Given the description of an element on the screen output the (x, y) to click on. 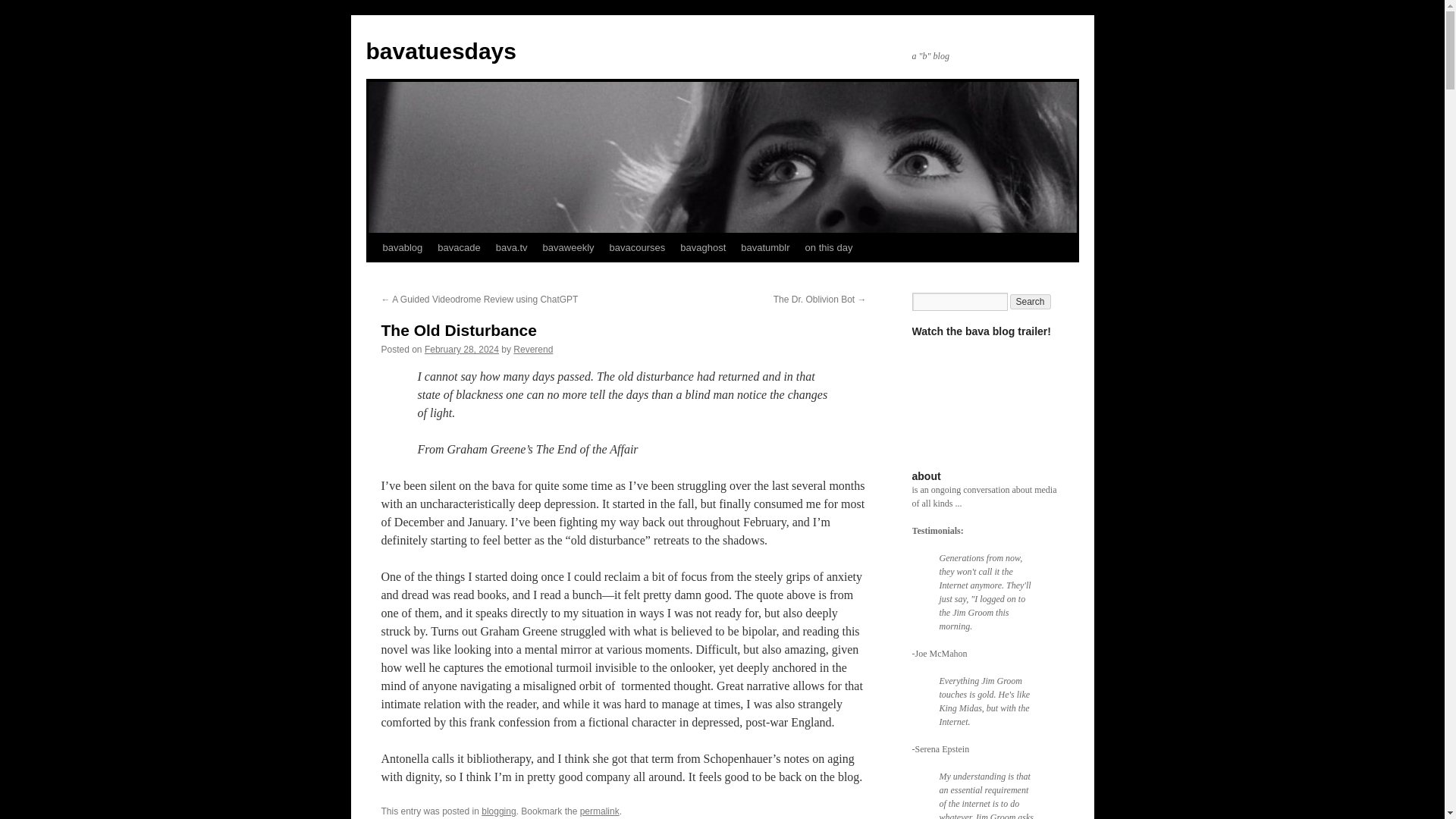
Permalink to The Old Disturbance (599, 810)
View all posts by Reverend (533, 348)
bavatuesdays (440, 50)
bavatumblr (764, 247)
bavaghost (702, 247)
February 28, 2024 (462, 348)
1:42 pm (462, 348)
Search (1030, 301)
bavaweekly (568, 247)
bavacourses (637, 247)
